Given the description of an element on the screen output the (x, y) to click on. 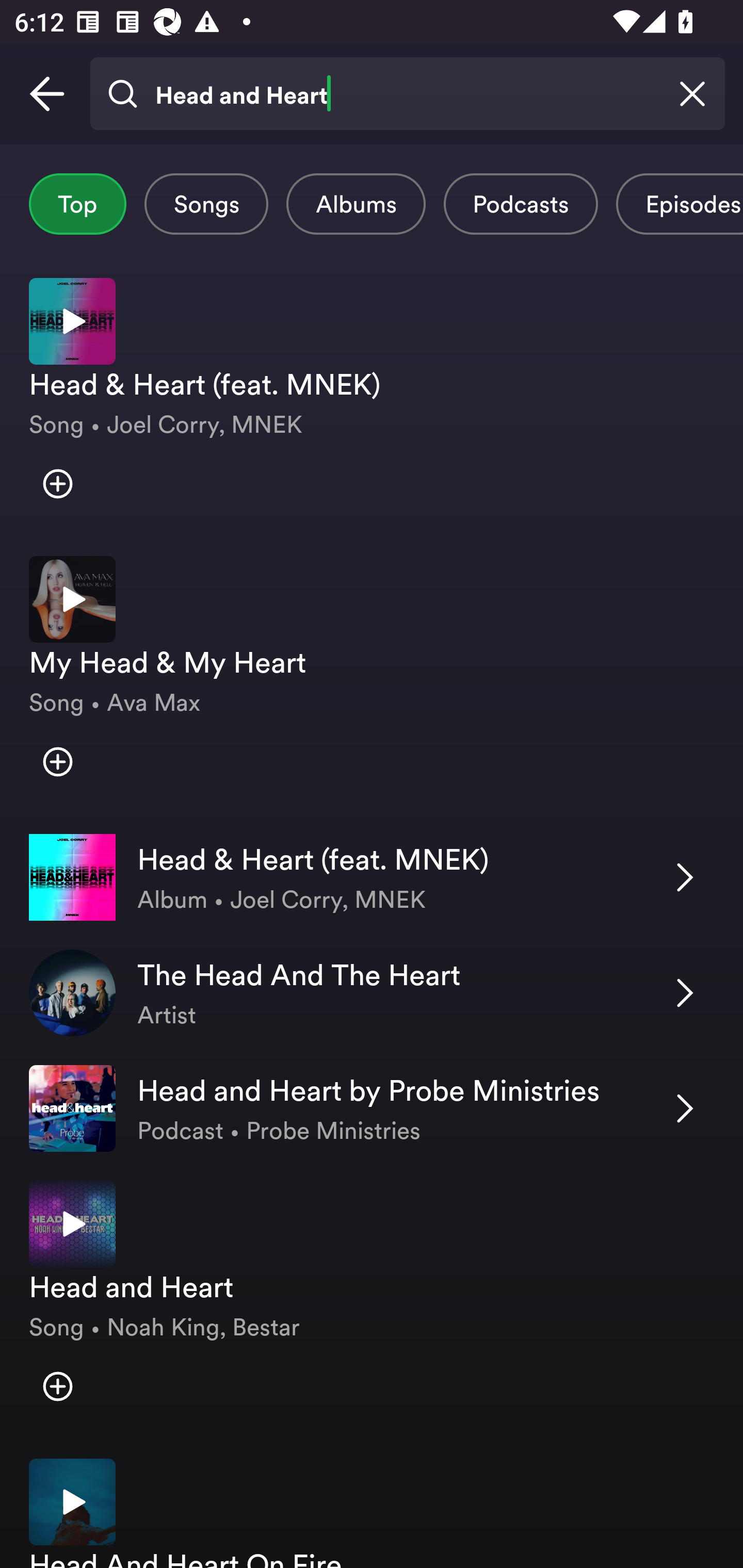
Back (46, 93)
Head and Heart Search (407, 94)
Clear Search (692, 94)
Top (77, 203)
Songs (206, 203)
Albums (355, 203)
Podcasts (520, 203)
Episodes (679, 203)
Play preview (71, 321)
Add item (57, 483)
Play preview (71, 599)
Add item (57, 761)
Head & Heart (feat. MNEK) Album • Joel Corry, MNEK (371, 877)
The Head And The Heart Artist (371, 992)
Play preview (71, 1223)
Add item (57, 1386)
Play preview (71, 1502)
